Given the description of an element on the screen output the (x, y) to click on. 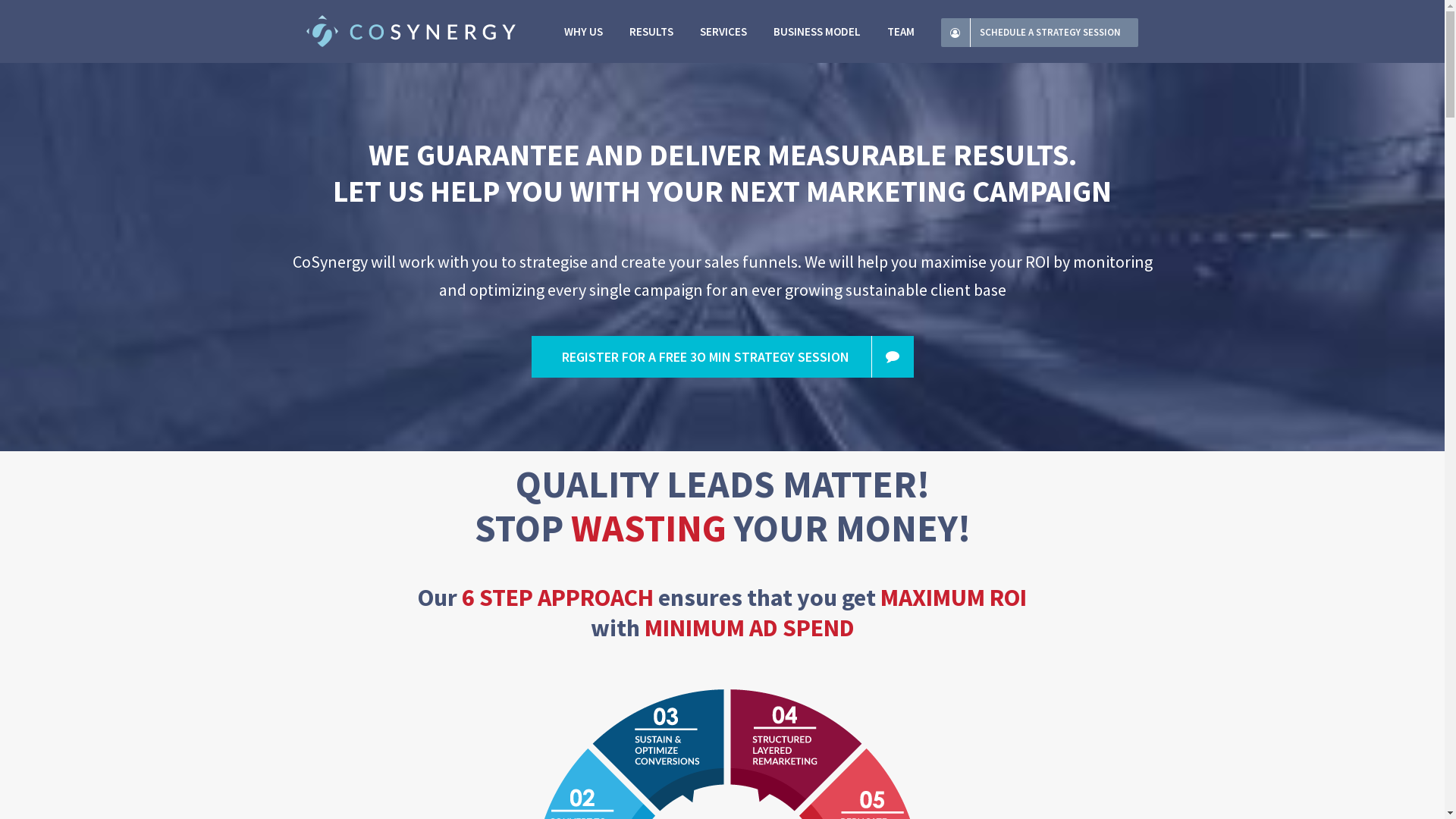
SERVICES Element type: text (722, 31)
REGISTER FOR A FREE 3O MIN STRATEGY SESSION Element type: text (721, 356)
RESULTS Element type: text (651, 31)
TEAM Element type: text (900, 31)
WHY US Element type: text (583, 31)
BUSINESS MODEL Element type: text (816, 31)
SCHEDULE A STRATEGY SESSION Element type: text (1039, 31)
